Given the description of an element on the screen output the (x, y) to click on. 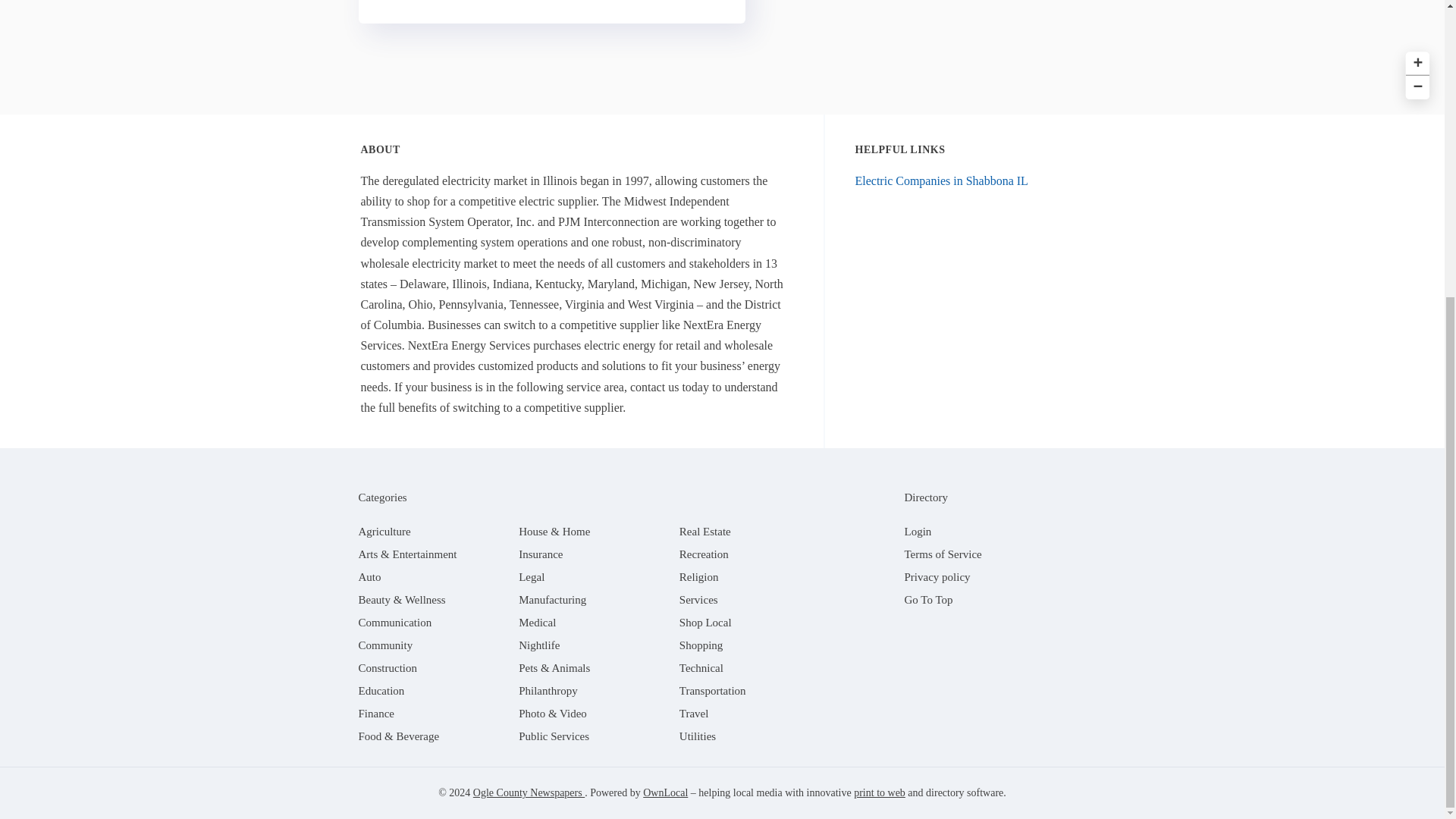
Public Services (553, 736)
Insurance (540, 553)
Community (385, 645)
Finance (375, 713)
Electric Companies in Shabbona IL (941, 180)
Zoom in (1415, 61)
Legal (531, 576)
Auto (369, 576)
Real Estate (704, 531)
Communication (394, 622)
